Given the description of an element on the screen output the (x, y) to click on. 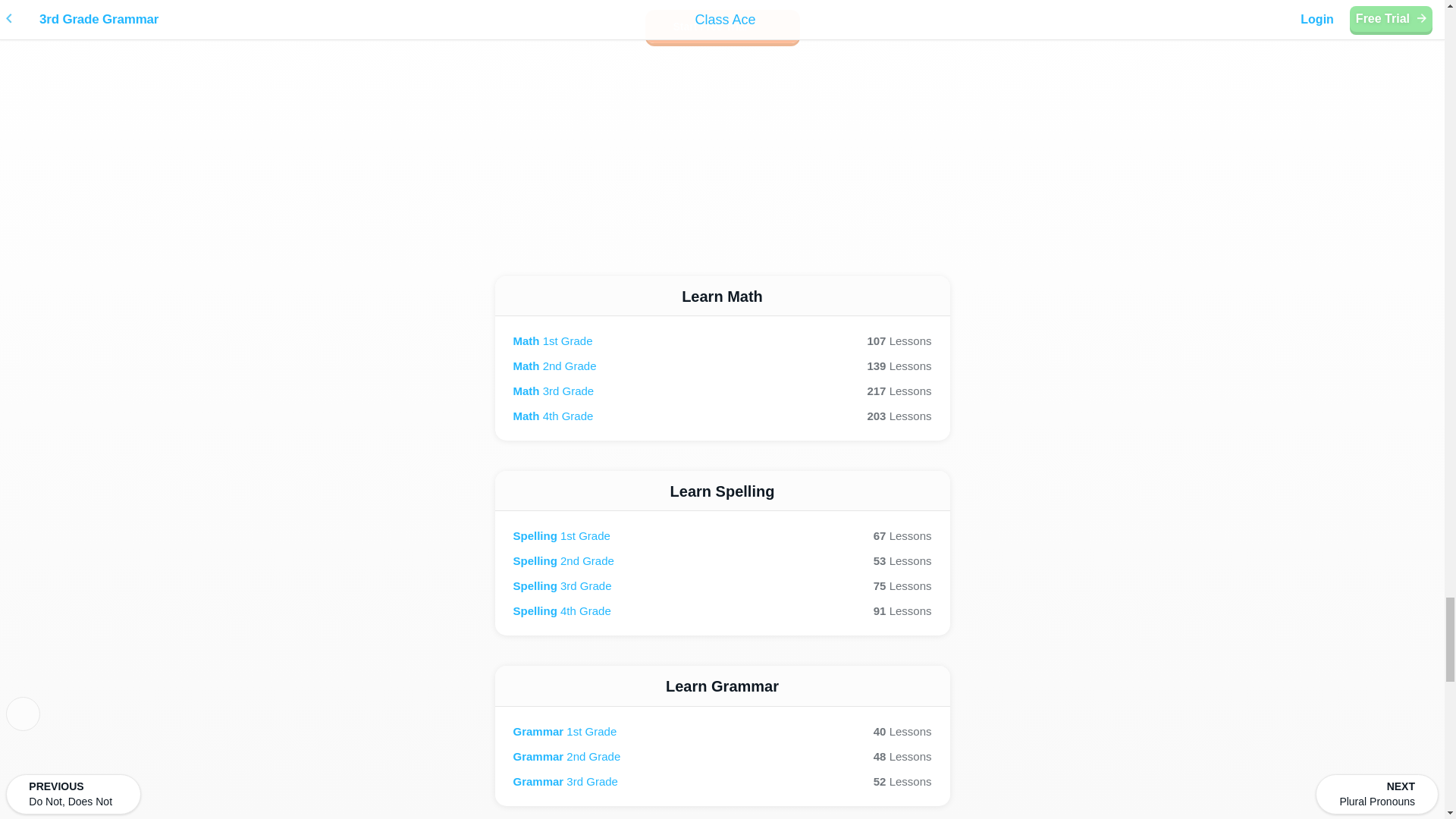
Start Free Trial (722, 415)
Learn Spelling (722, 585)
Learn Grammar (722, 390)
Learn Math (722, 560)
